Given the description of an element on the screen output the (x, y) to click on. 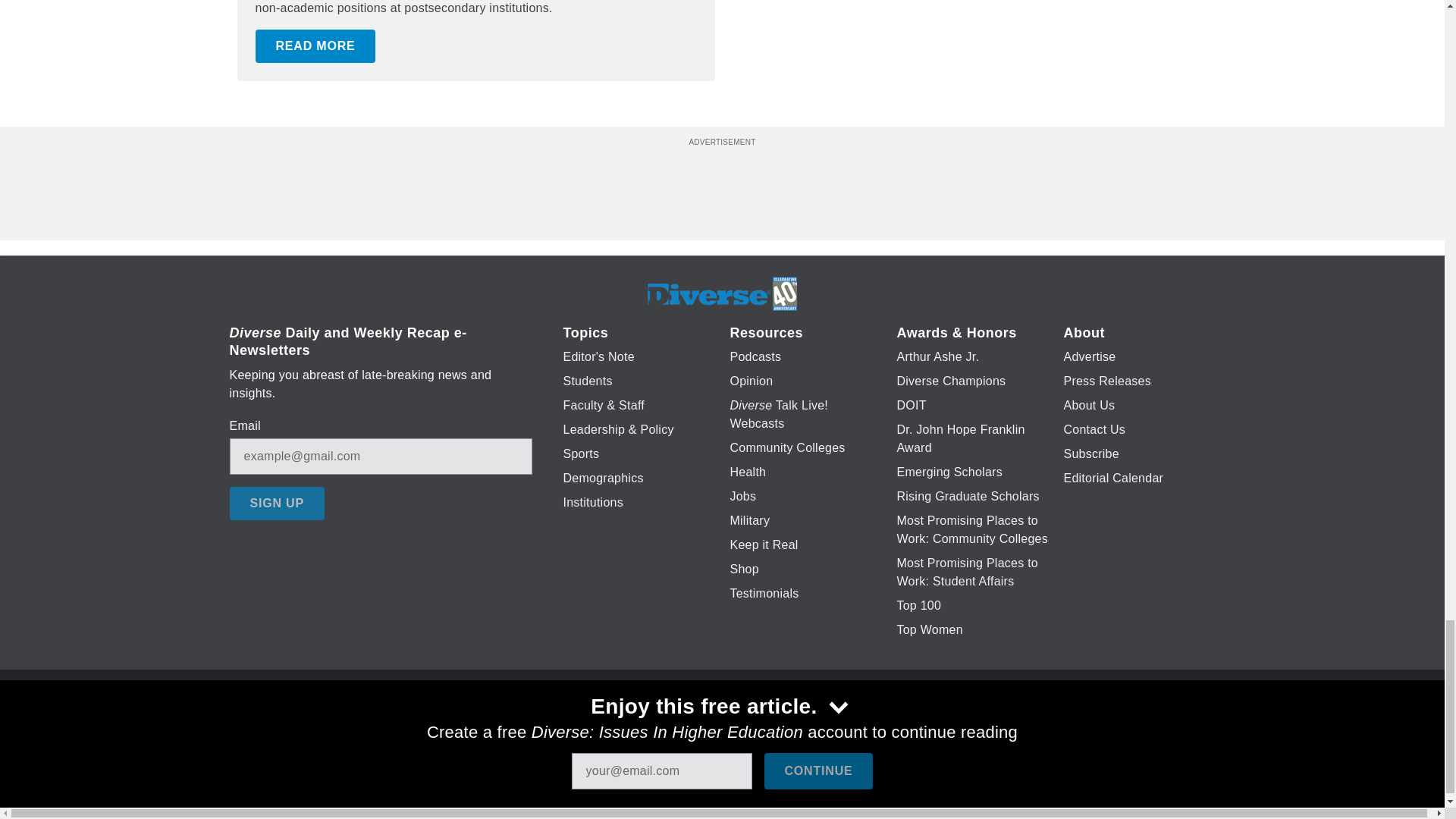
YouTube icon (757, 727)
LinkedIn icon (718, 727)
Twitter X icon (674, 727)
Facebook icon (635, 727)
Instagram icon (796, 727)
